Given the description of an element on the screen output the (x, y) to click on. 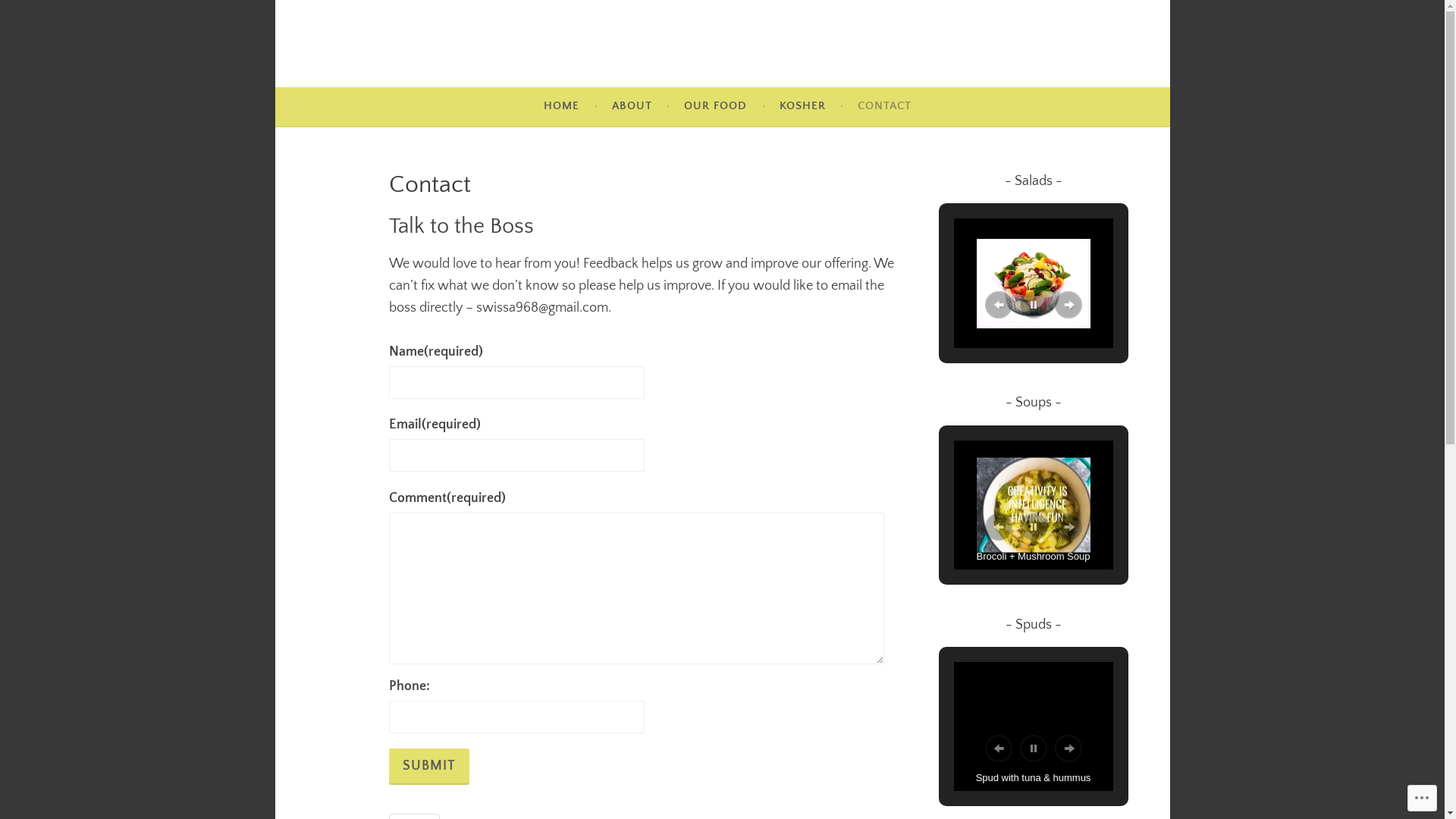
_16A4627Web Element type: hover (1033, 283)
KOSHER Element type: text (802, 105)
HOME Element type: text (561, 105)
ABOUT Element type: text (631, 105)
CONTACT Element type: text (884, 105)
SUBMIT Element type: text (428, 766)
OUR FOOD Element type: text (715, 105)
creativity is Intelligence having&nbsp;fun Element type: hover (1033, 504)
